Given the description of an element on the screen output the (x, y) to click on. 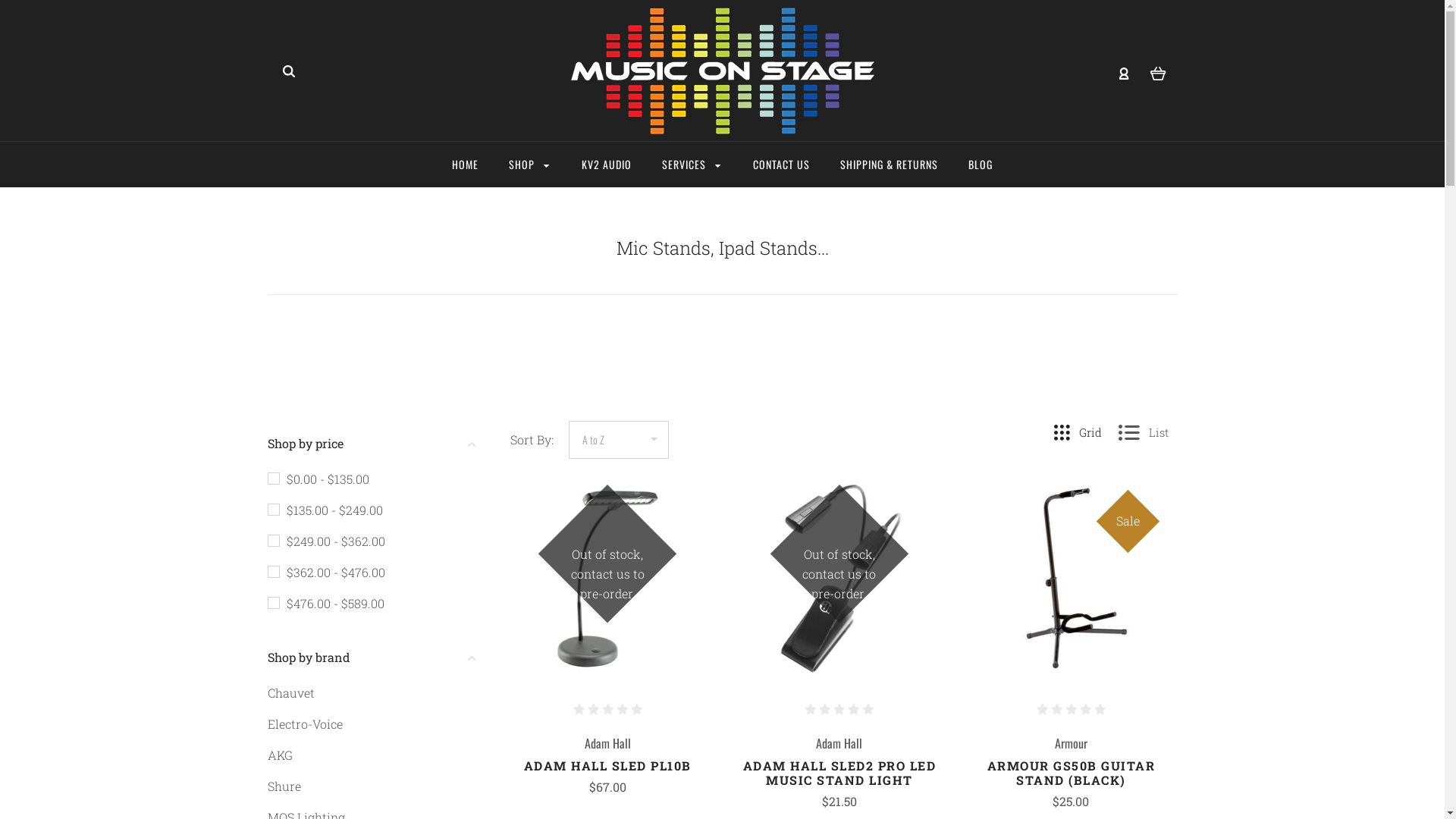
Armour GS50B Guitar Stand (Black) Element type: hover (1070, 578)
Electro-Voice Element type: text (304, 723)
Adam Hall SLED2 Pro LED Music Stand Light Element type: hover (839, 578)
Adam Hall SLED PL10B Element type: hover (607, 578)
ARMOUR GS50B GUITAR STAND (BLACK) Element type: text (1071, 772)
HOME Element type: text (465, 164)
Grid Element type: text (1077, 432)
List Element type: text (1142, 432)
CONTACT US Element type: text (781, 164)
KV2 AUDIO Element type: text (606, 164)
ADAM HALL SLED PL10B Element type: text (607, 765)
ADAM HALL SLED2 PRO LED MUSIC STAND LIGHT Element type: text (839, 772)
SHIPPING & RETURNS Element type: text (888, 164)
$476.00 - $589.00 Element type: text (324, 603)
0 Element type: text (1157, 71)
$135.00 - $249.00 Element type: text (324, 509)
Chauvet Element type: text (289, 692)
$249.00 - $362.00 Element type: text (325, 541)
$0.00 - $135.00 Element type: text (317, 478)
SHOP Element type: text (529, 164)
Shure Element type: text (283, 785)
SERVICES Element type: text (692, 164)
AKG Element type: text (278, 754)
BLOG Element type: text (980, 164)
$362.00 - $476.00 Element type: text (325, 572)
